Given the description of an element on the screen output the (x, y) to click on. 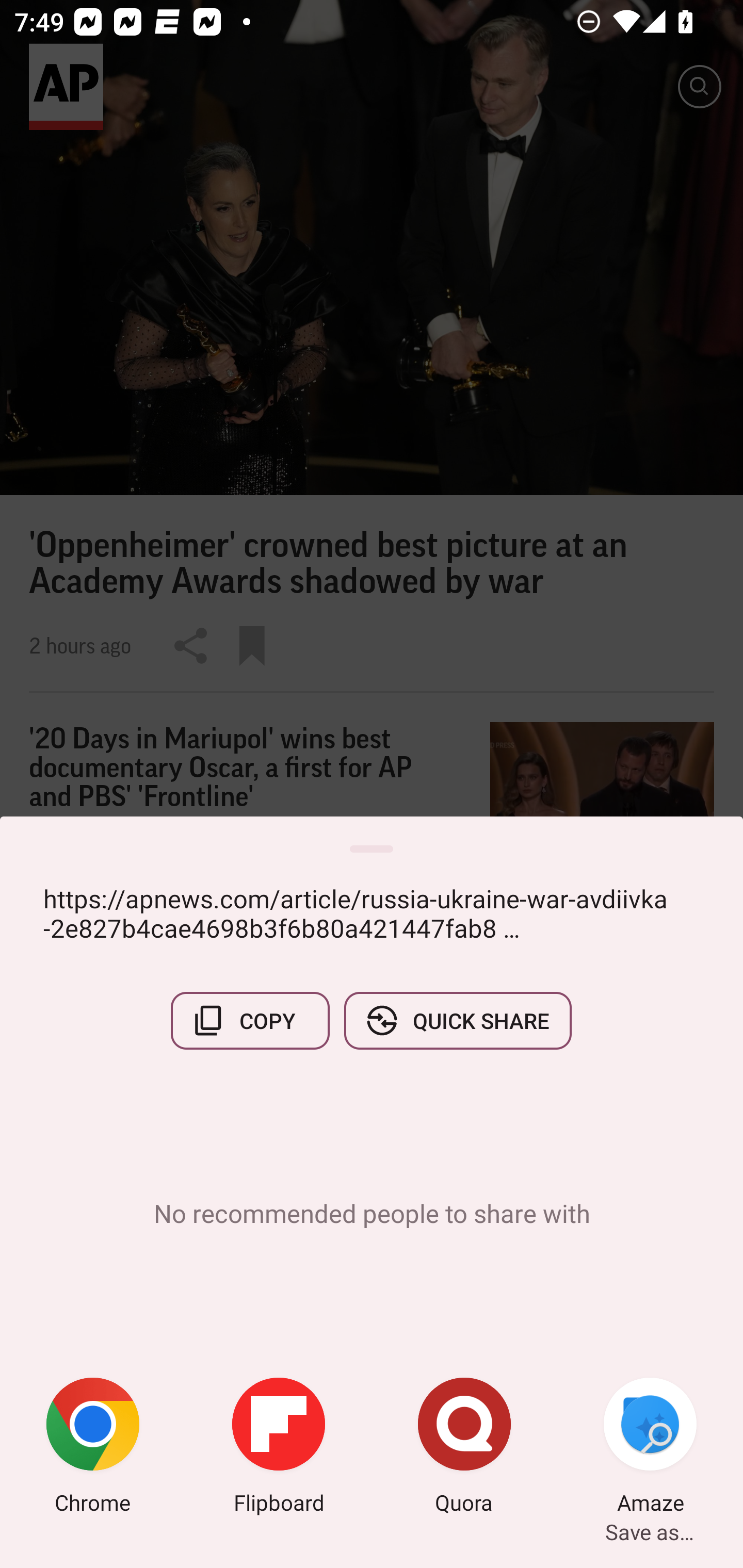
COPY (249, 1020)
QUICK SHARE (457, 1020)
Chrome (92, 1448)
Flipboard (278, 1448)
Quora (464, 1448)
Amaze Save as… (650, 1448)
